Given the description of an element on the screen output the (x, y) to click on. 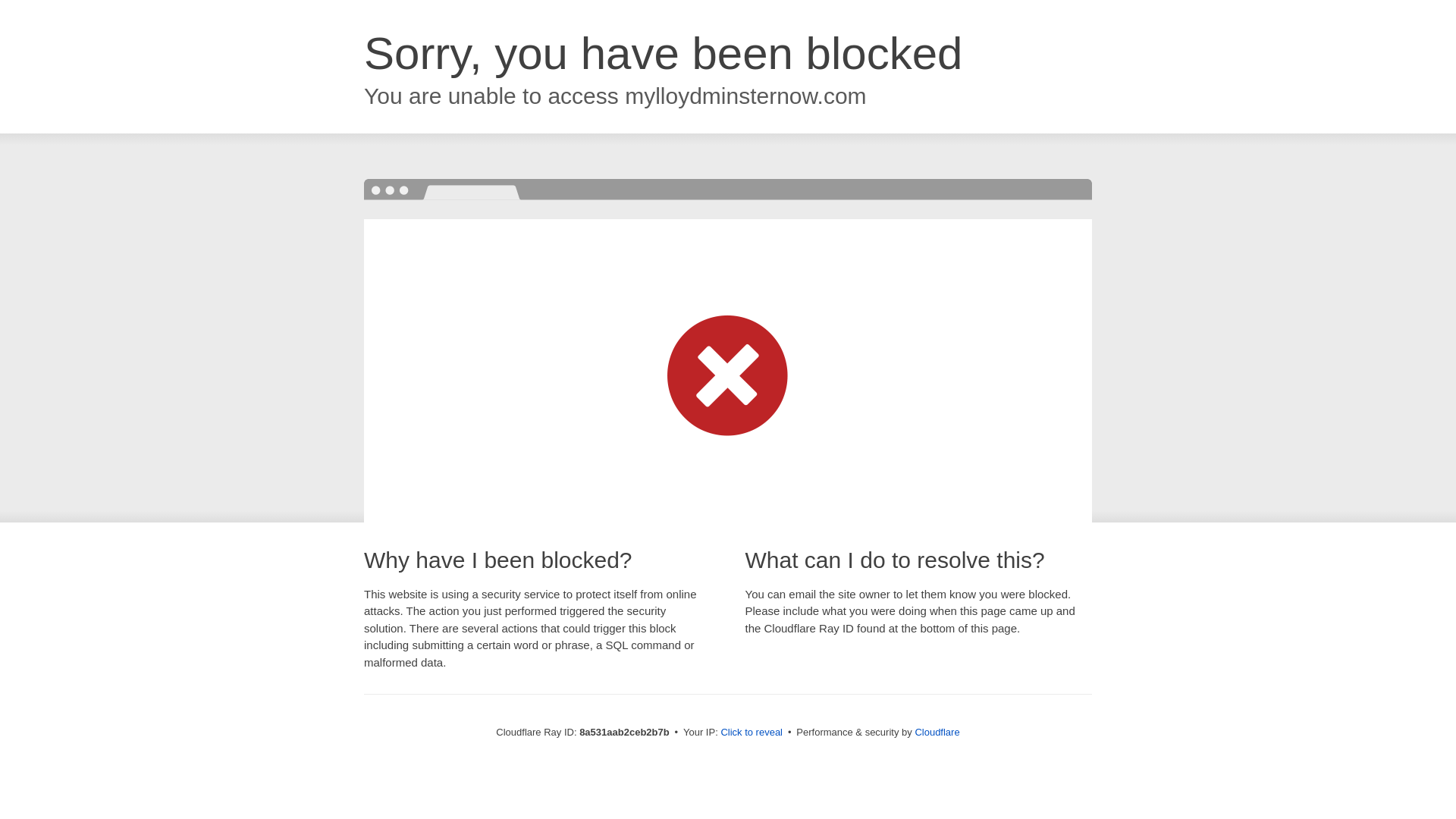
Click to reveal (751, 732)
Cloudflare (936, 731)
